Given the description of an element on the screen output the (x, y) to click on. 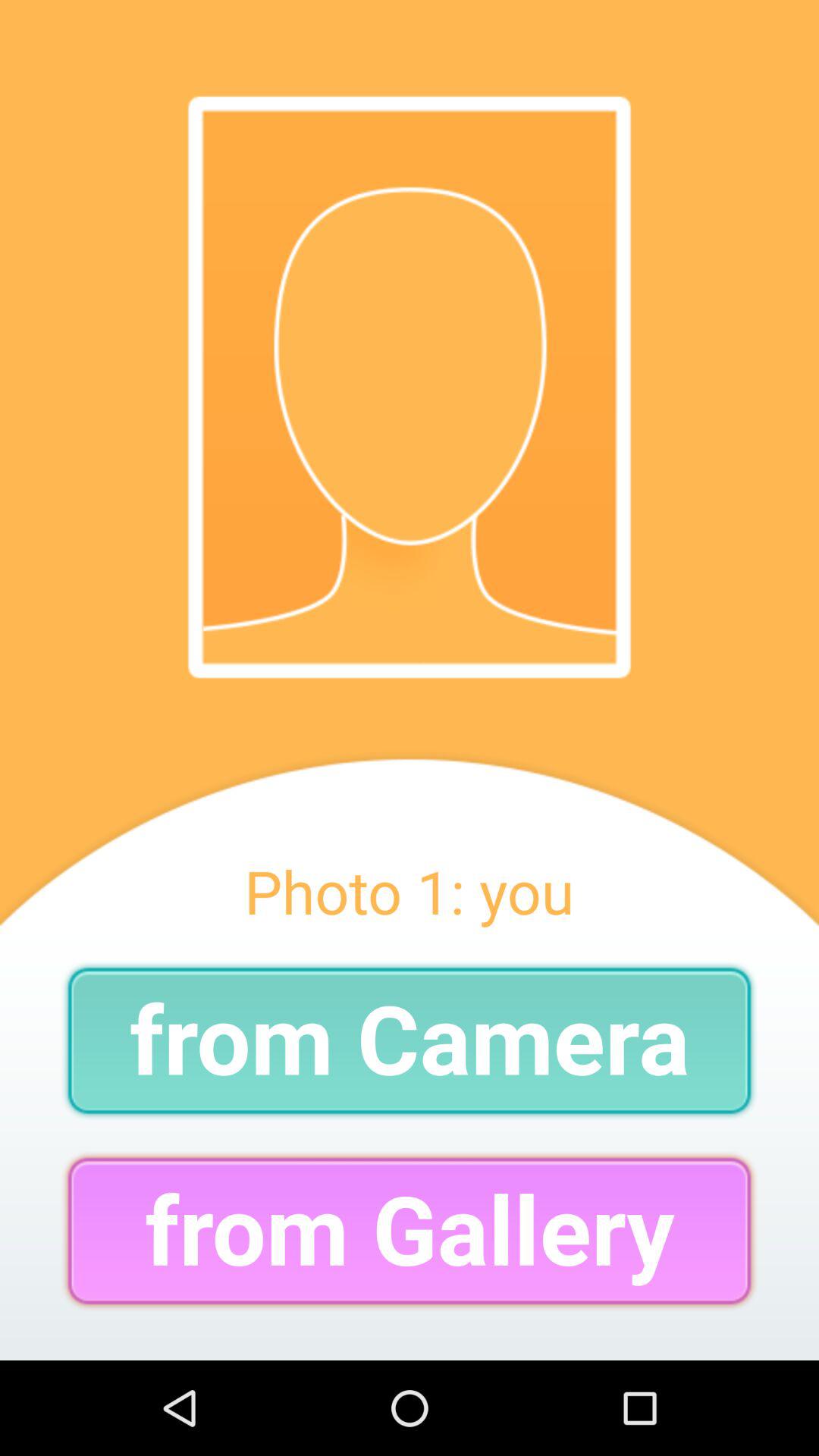
jump to from camera item (409, 1040)
